Given the description of an element on the screen output the (x, y) to click on. 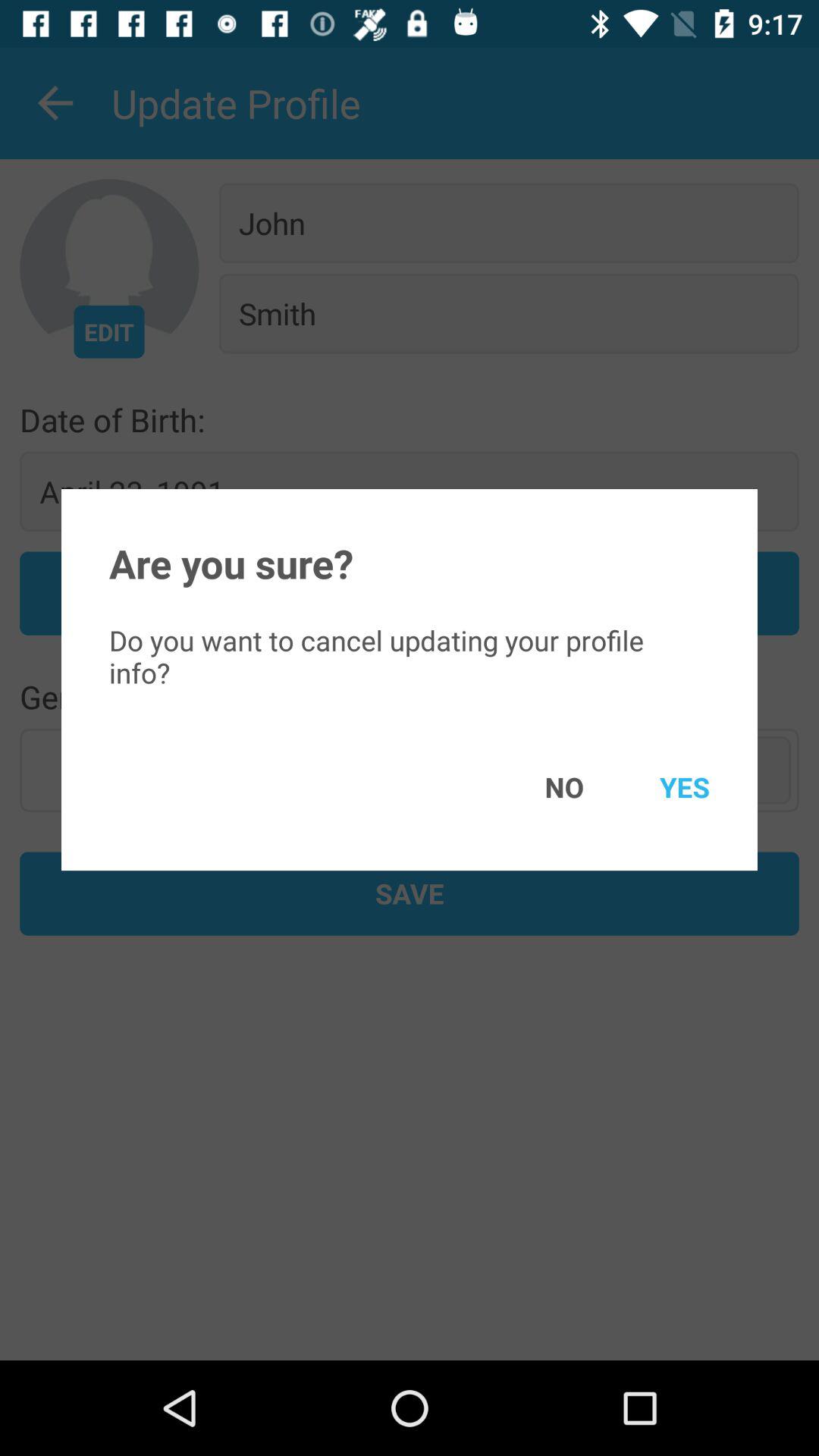
launch the icon below do you want (542, 786)
